Given the description of an element on the screen output the (x, y) to click on. 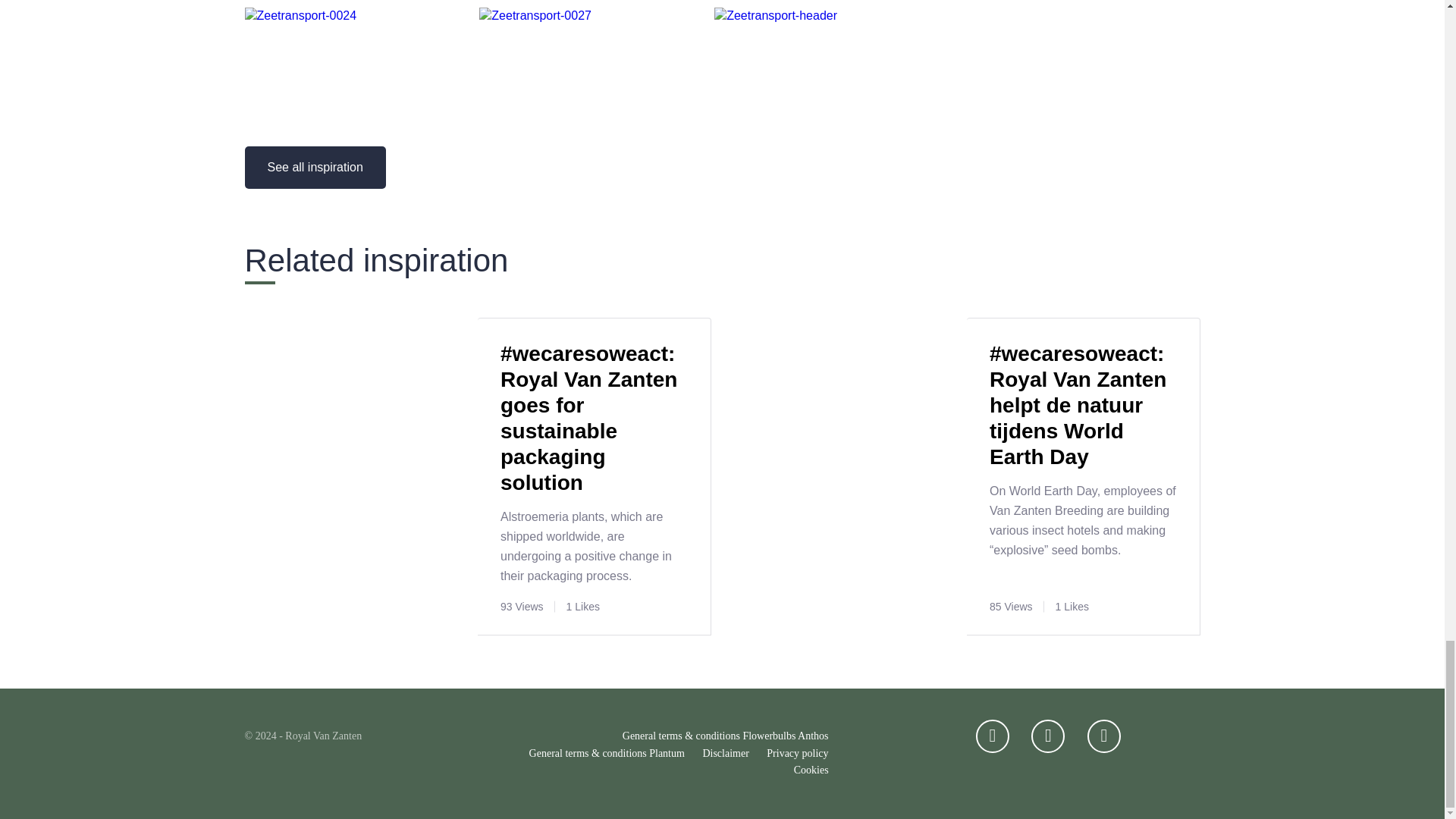
Zeetransport-header (775, 15)
Disclaimer (724, 753)
Zeetransport-0024 (300, 15)
Cookies (810, 769)
Zeetransport-0027 (535, 15)
Privacy policy (797, 753)
See all inspiration (314, 167)
